Given the description of an element on the screen output the (x, y) to click on. 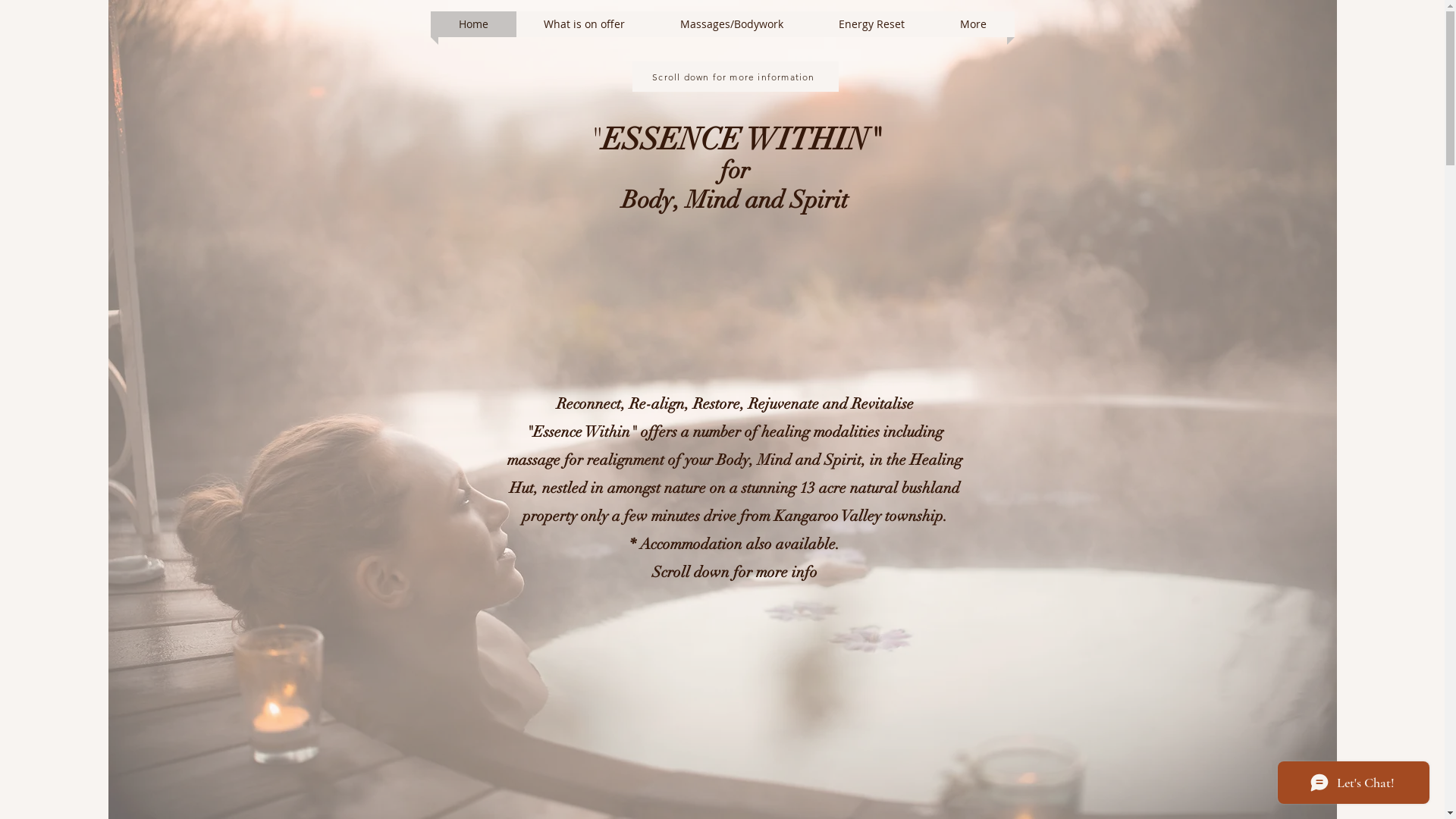
Home Element type: text (472, 24)
Massages/Bodywork Element type: text (731, 24)
What is on offer Element type: text (584, 24)
Energy Reset Element type: text (871, 24)
Scroll down for more information Element type: text (735, 76)
